Given the description of an element on the screen output the (x, y) to click on. 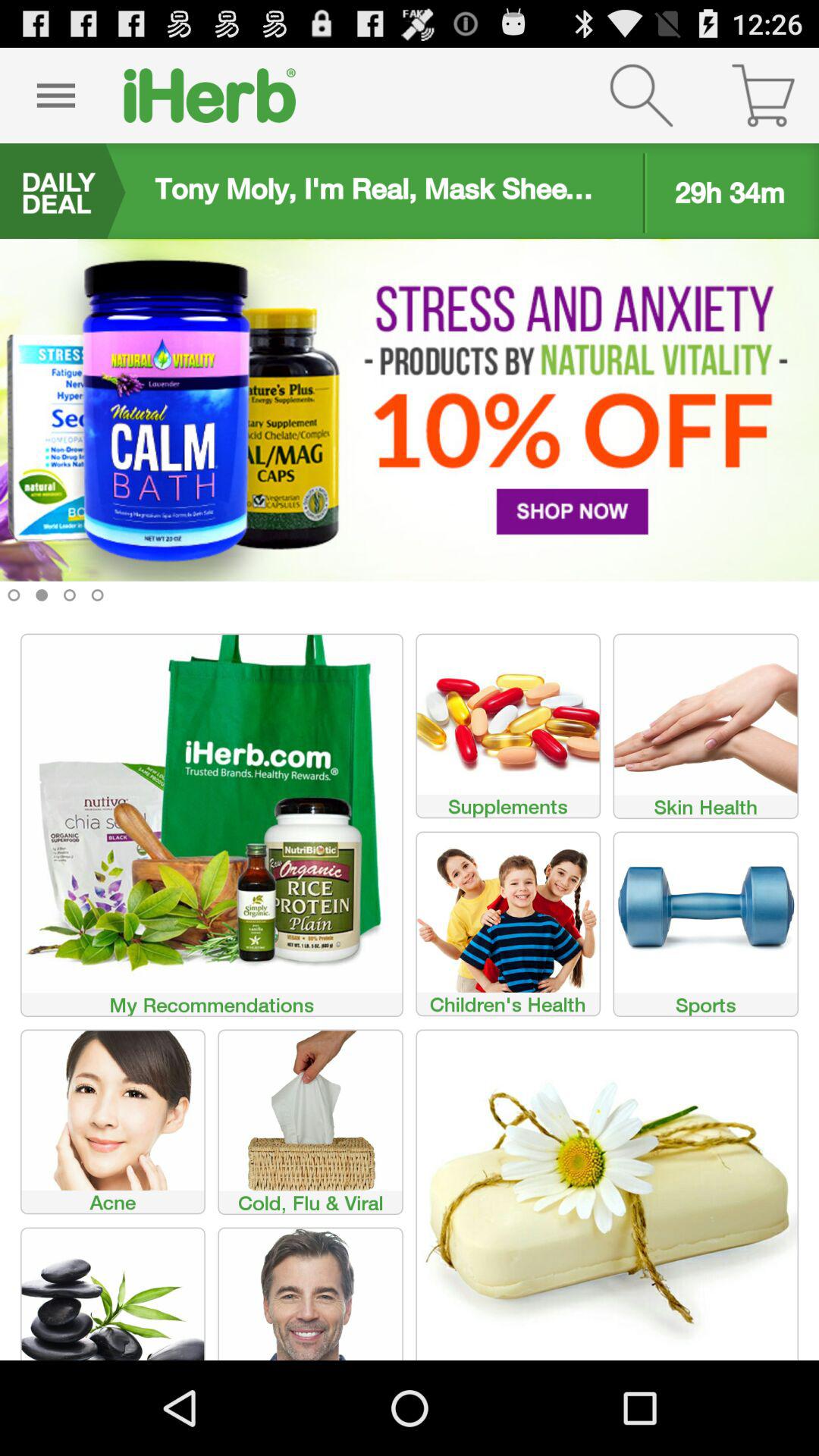
go search (641, 95)
